Given the description of an element on the screen output the (x, y) to click on. 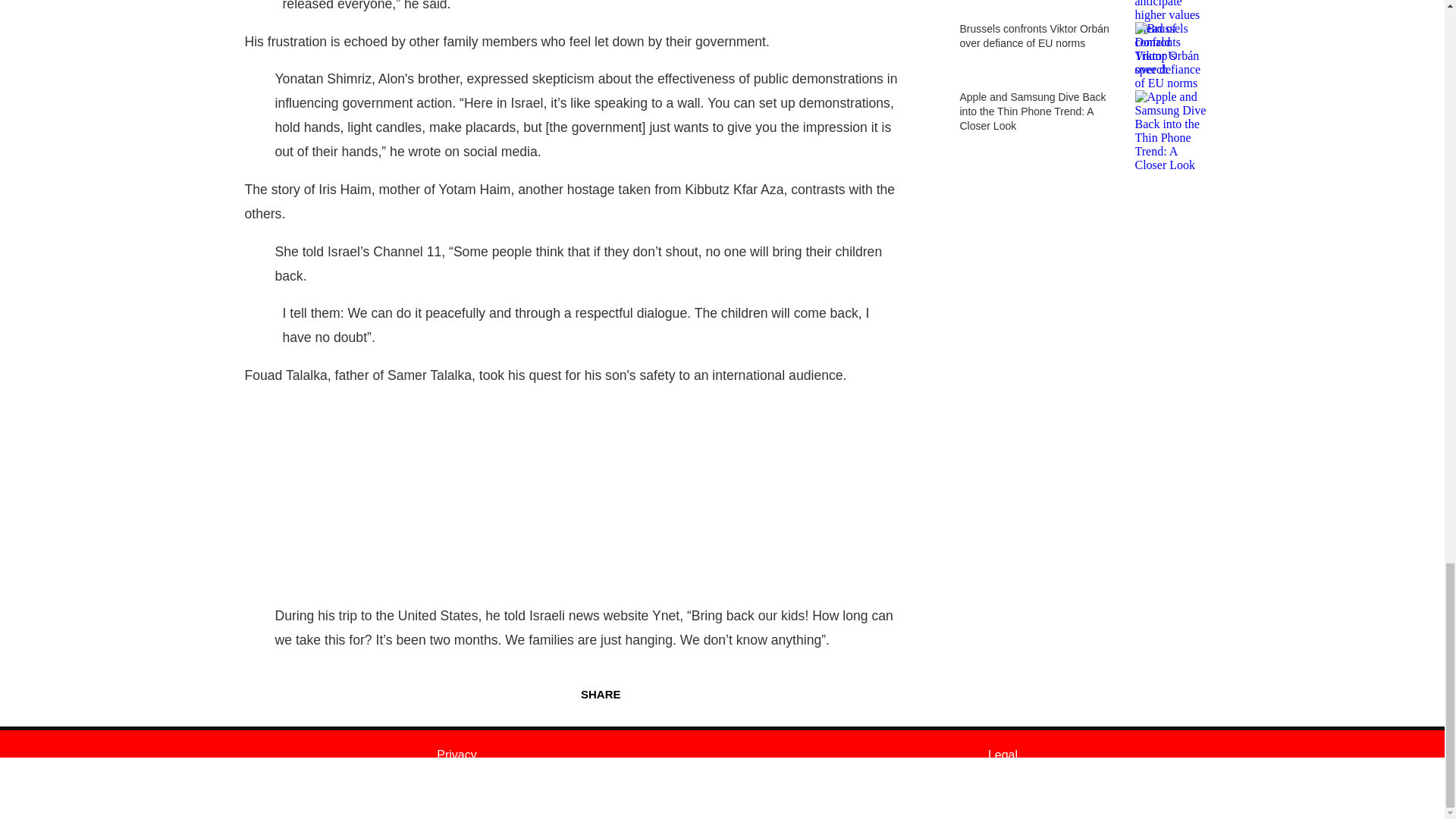
Legal (1002, 754)
Advertising (456, 789)
Privacy (456, 754)
